Given the description of an element on the screen output the (x, y) to click on. 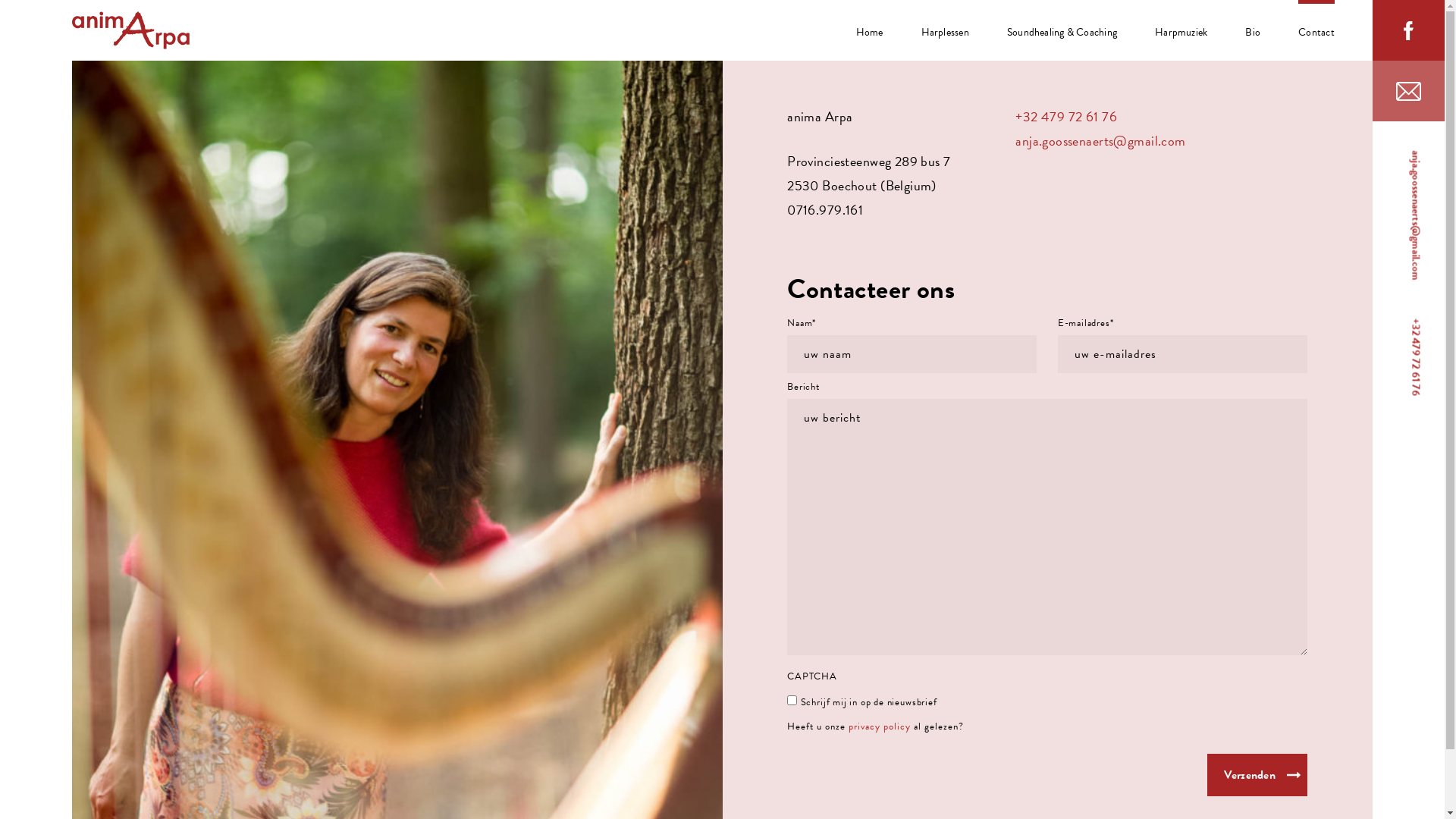
Harpmuziek Element type: text (1180, 30)
Verzenden Element type: text (1257, 774)
privacy policy Element type: text (879, 726)
+32 479 72 61 76 Element type: text (1066, 116)
Soundhealing & Coaching Element type: text (1062, 30)
Bio Element type: text (1252, 30)
Harplessen Element type: text (944, 30)
Home Element type: text (869, 30)
Facebook Element type: text (1408, 30)
mail Element type: text (1408, 90)
anja.goossenaerts@gmail.com Element type: text (1100, 140)
Animarpa Element type: text (130, 32)
Contact Element type: text (1316, 30)
